Given the description of an element on the screen output the (x, y) to click on. 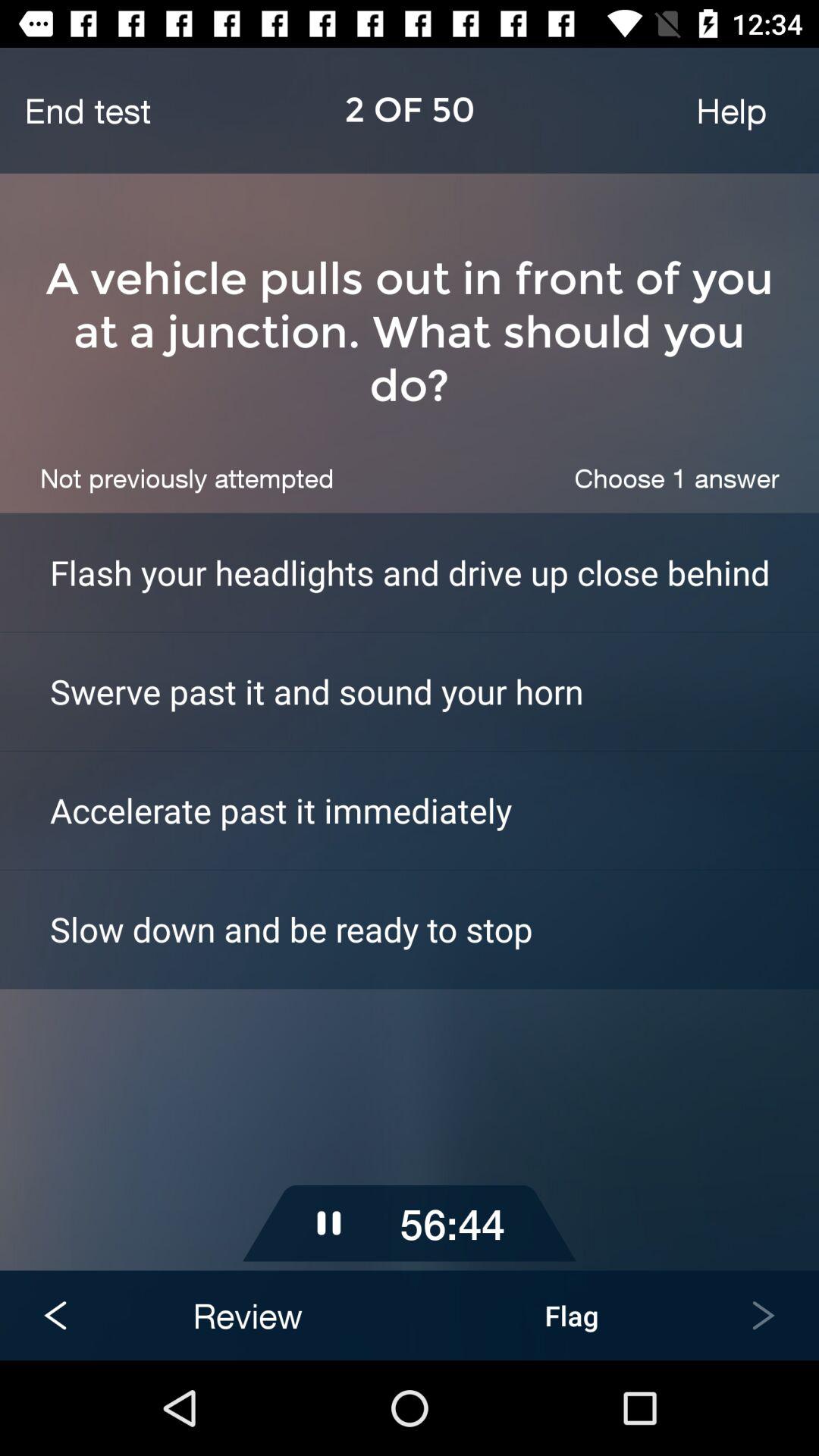
turn on item above not previously attempted (409, 332)
